Given the description of an element on the screen output the (x, y) to click on. 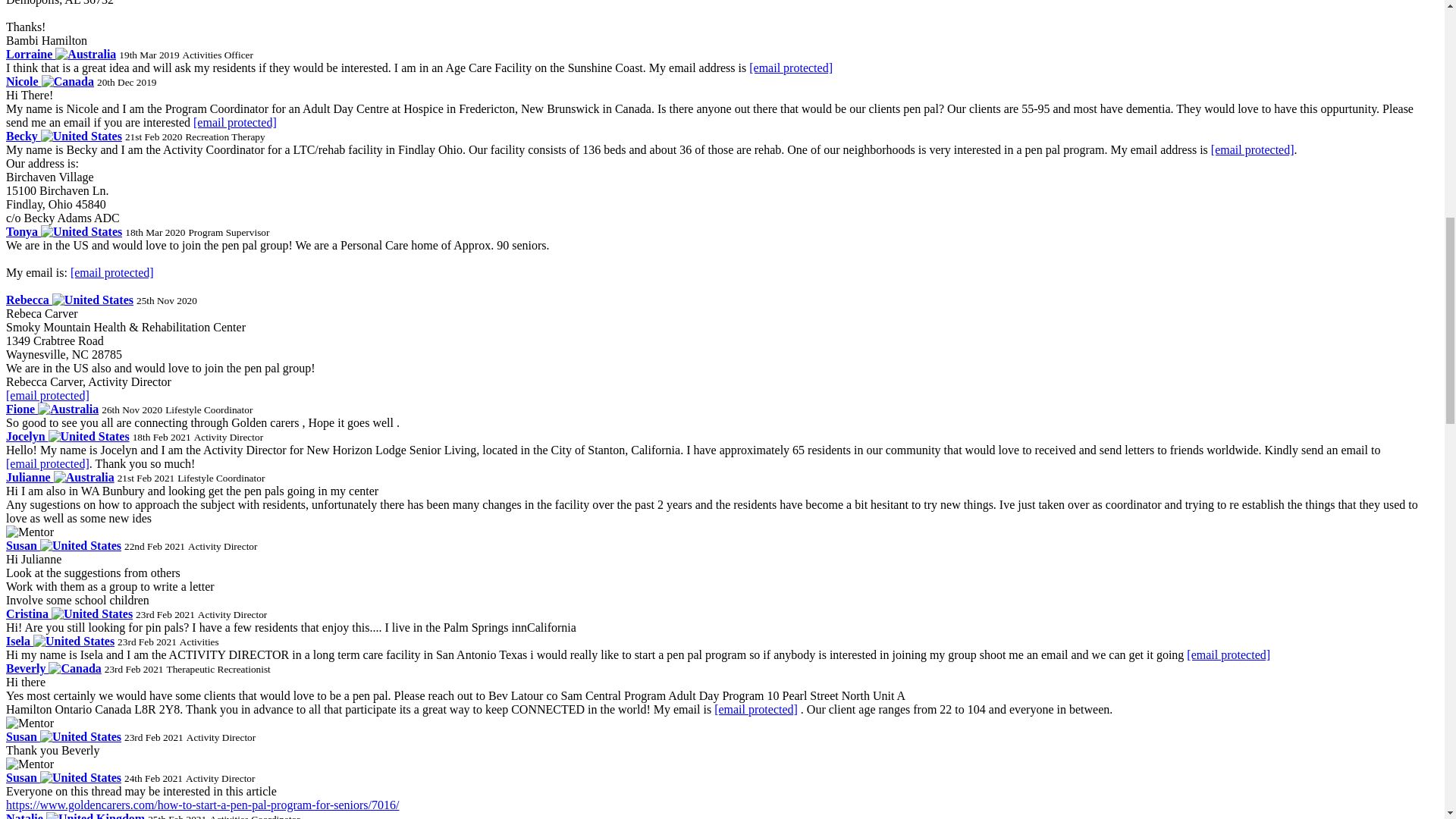
Tonya (63, 231)
Becky (63, 135)
Rebecca (69, 299)
Lorraine (60, 53)
Susan (62, 545)
Julianne (60, 477)
Cristina (68, 613)
Fione (52, 408)
Jocelyn (67, 436)
Nicole (49, 81)
